Given the description of an element on the screen output the (x, y) to click on. 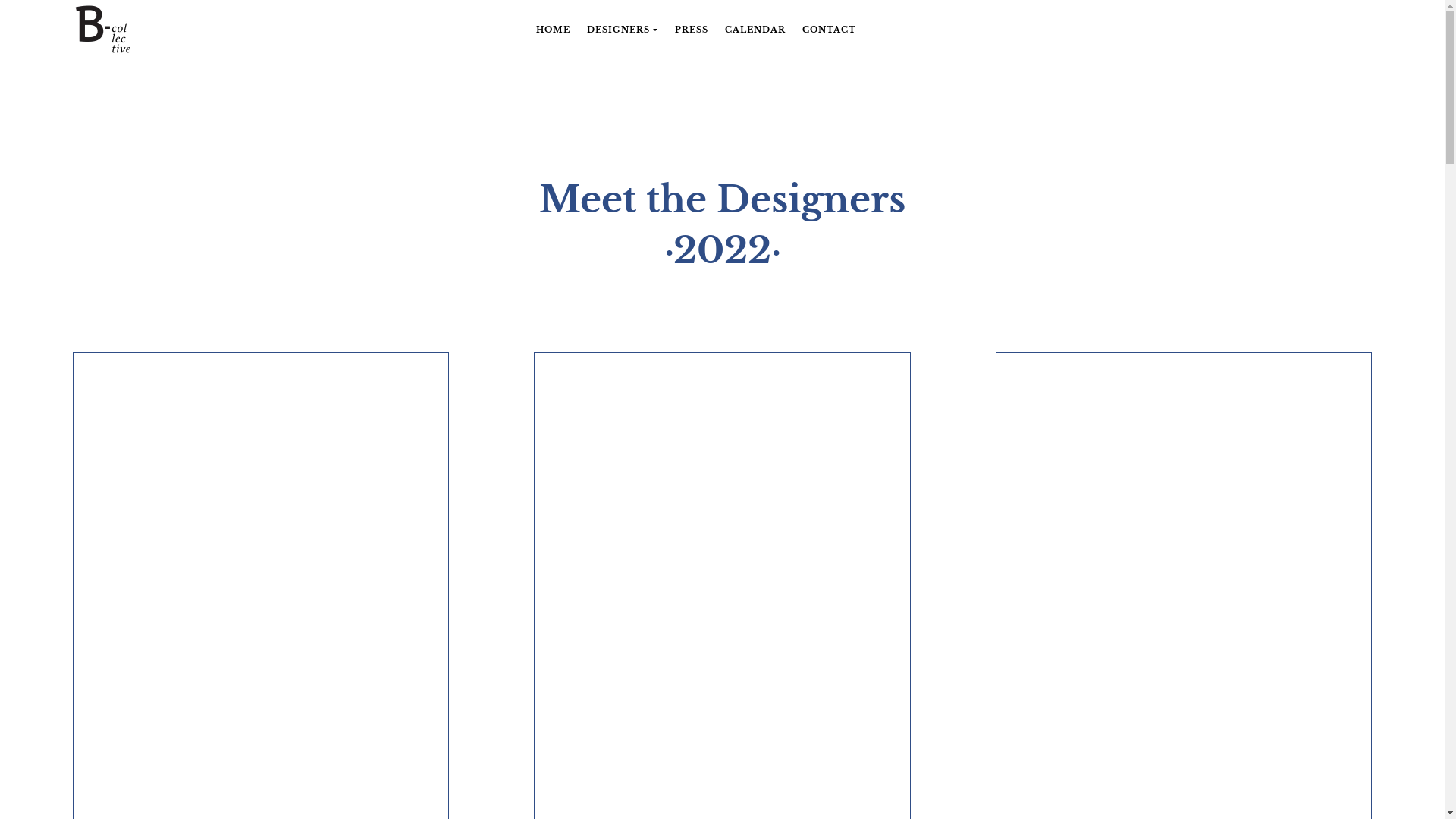
HOME Element type: text (553, 29)
DESIGNERS Element type: text (621, 29)
PRESS Element type: text (691, 29)
CALENDAR Element type: text (754, 29)
CONTACT Element type: text (829, 29)
